Given the description of an element on the screen output the (x, y) to click on. 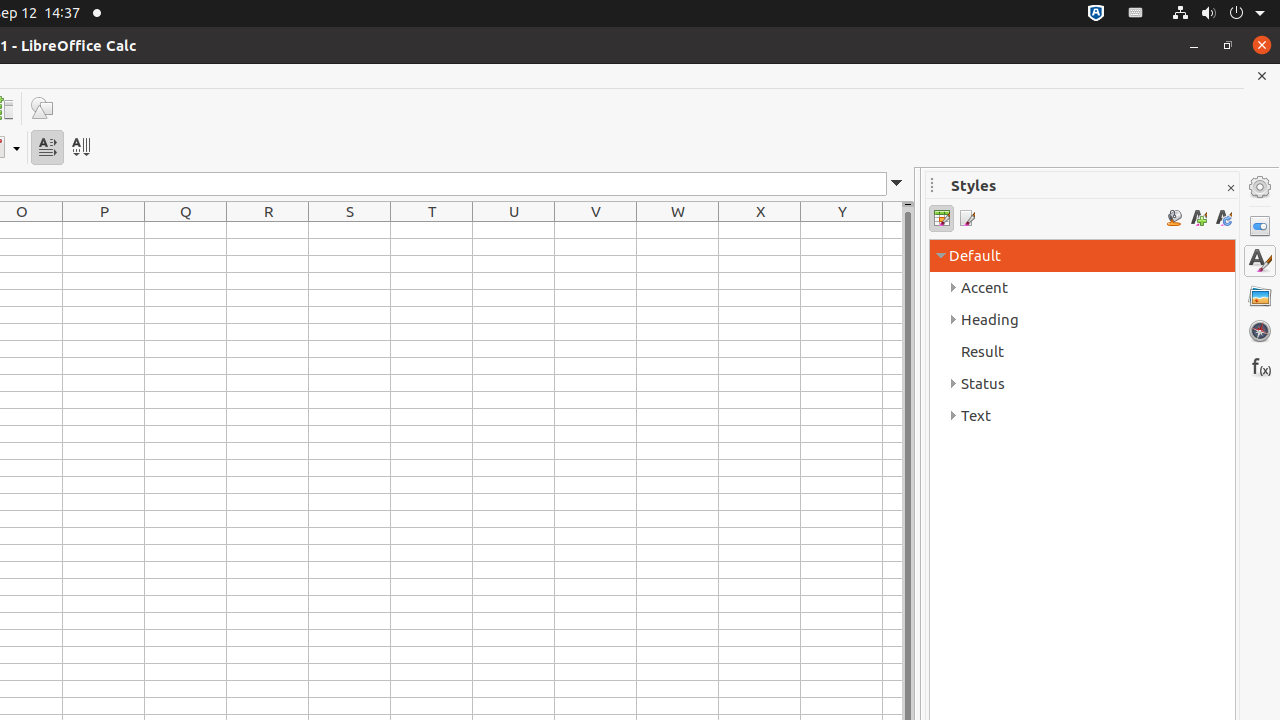
Navigator Element type: radio-button (1260, 331)
New Style from Selection Element type: push-button (1198, 218)
Text direction from left to right Element type: toggle-button (47, 147)
U1 Element type: table-cell (514, 230)
